Given the description of an element on the screen output the (x, y) to click on. 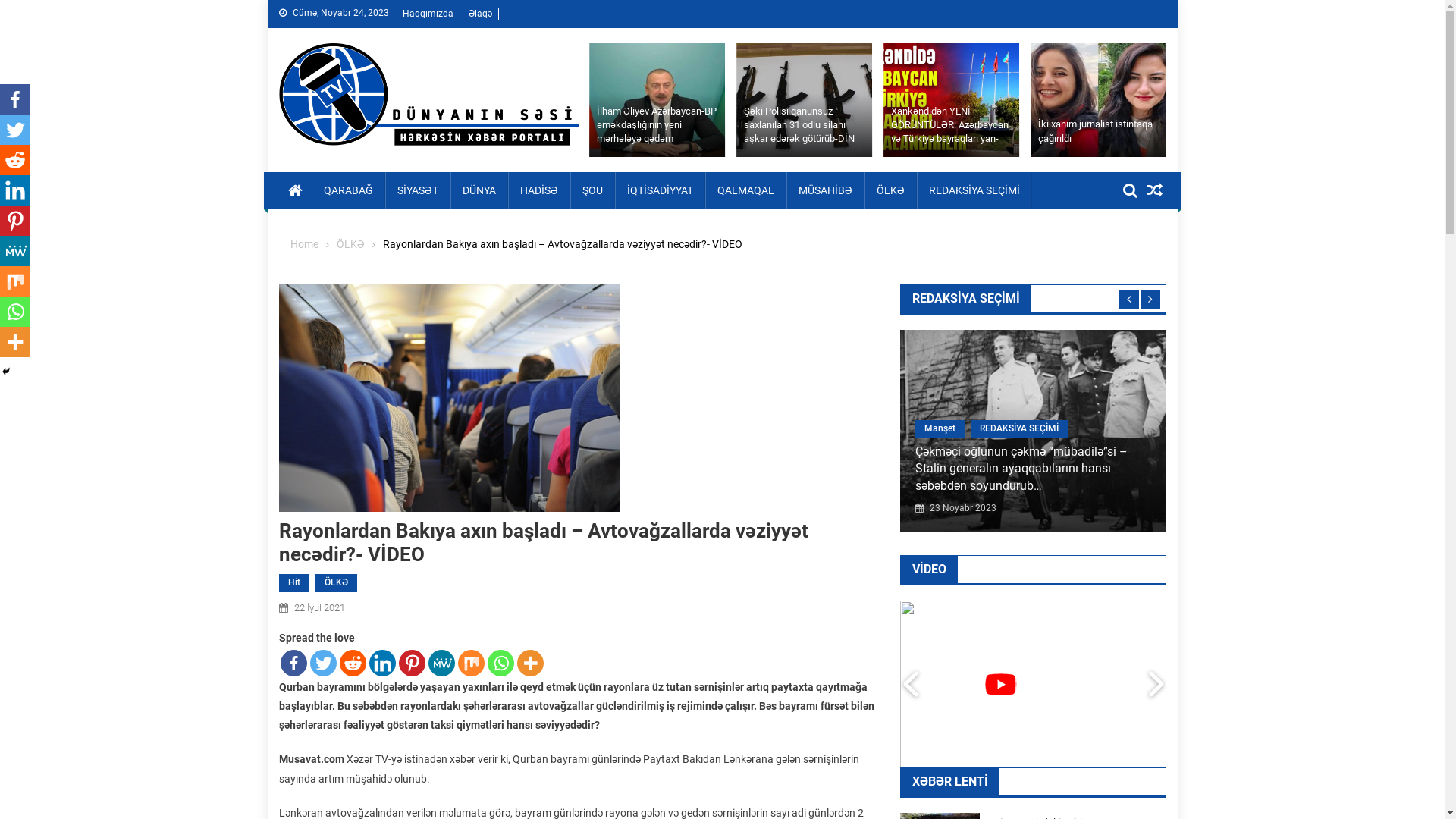
Whatsapp Element type: hover (499, 662)
Whatsapp Element type: hover (15, 311)
MeWe Element type: hover (440, 662)
Mix Element type: hover (15, 281)
QALMAQAL Element type: text (745, 190)
Facebook Element type: hover (293, 662)
More Element type: hover (530, 662)
23 Noyabr 2023 Element type: text (1084, 508)
Facebook Element type: hover (15, 99)
Axtar Element type: text (1133, 245)
Hide Element type: hover (6, 371)
Home Element type: text (303, 244)
Reddit Element type: hover (352, 662)
Hit Element type: text (294, 583)
MeWe Element type: hover (15, 250)
Linkedin Element type: hover (381, 662)
Pinterest Element type: hover (411, 662)
More Element type: hover (15, 341)
Mix Element type: hover (471, 662)
Pinterest Element type: hover (15, 220)
Twitter Element type: hover (15, 129)
Linkedin Element type: hover (15, 190)
Twitter Element type: hover (322, 662)
Reddit Element type: hover (15, 159)
